Given the description of an element on the screen output the (x, y) to click on. 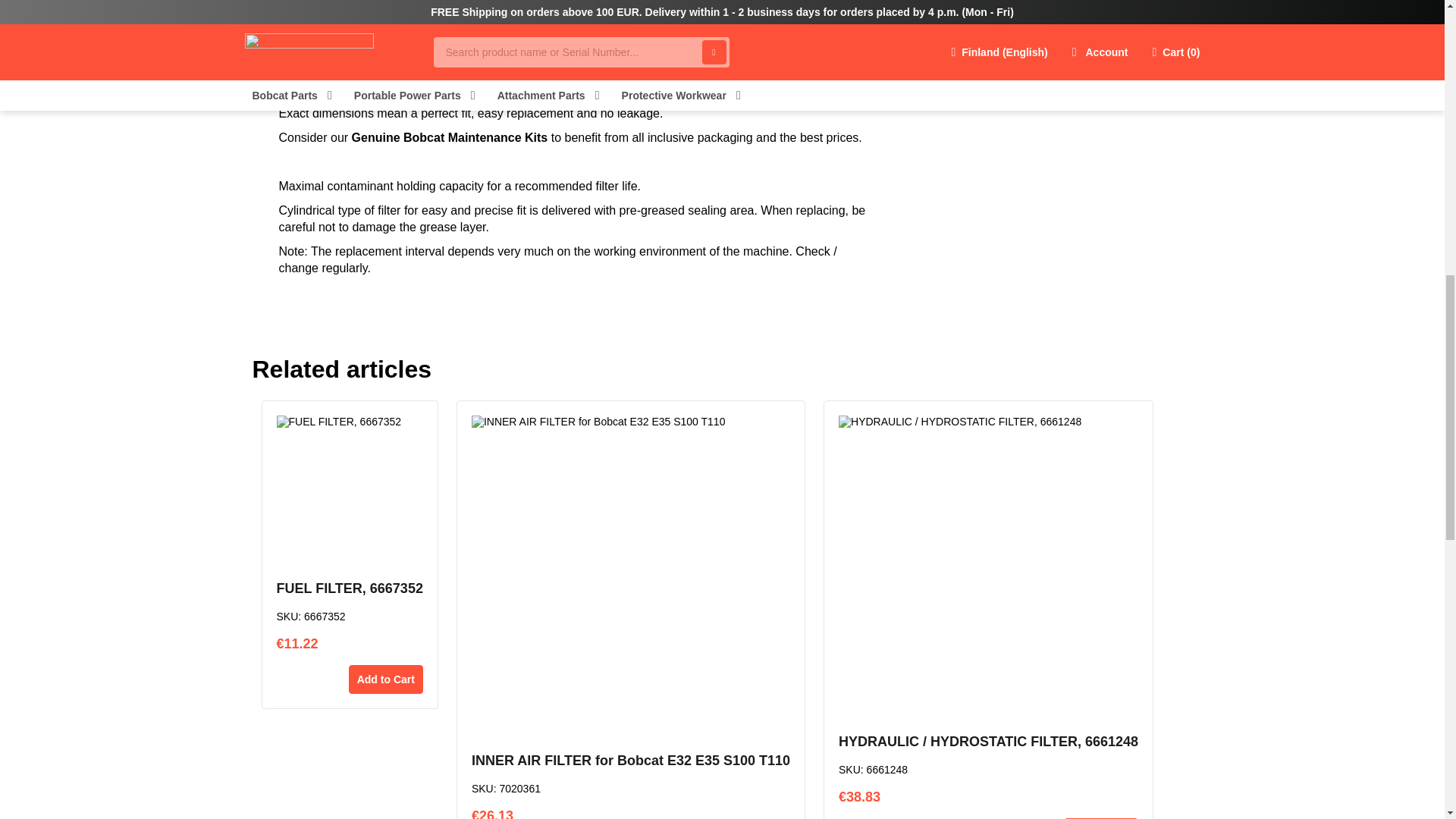
Add to Cart (386, 679)
FUEL FILTER, 6667352 (349, 588)
INNER AIR FILTER for Bobcat E32 E35 S100 T110 (630, 760)
